Given the description of an element on the screen output the (x, y) to click on. 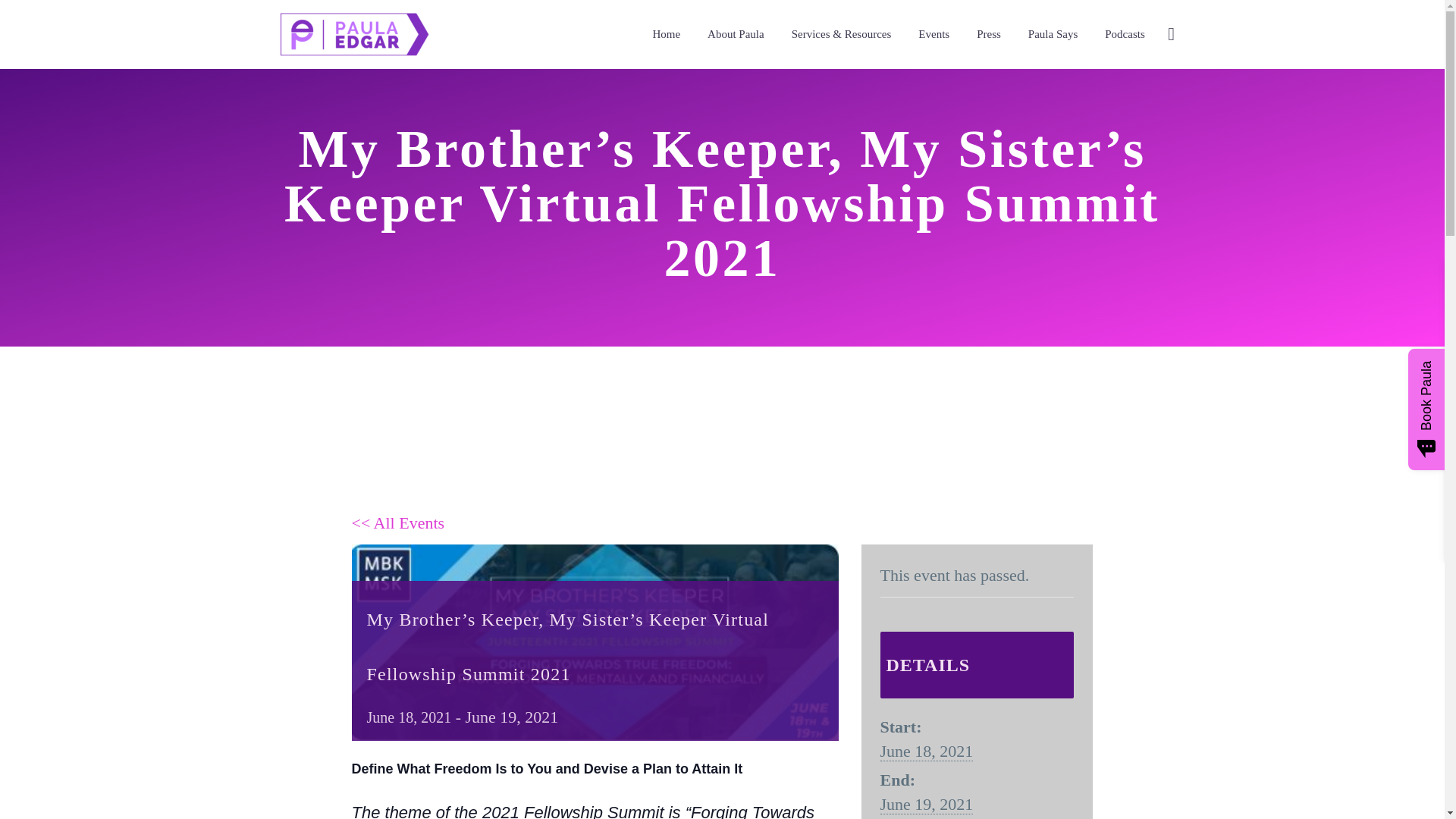
Home (665, 34)
2021-06-19 (925, 804)
Paula Says (1052, 34)
Events (933, 34)
s (1323, 114)
About Paula (735, 34)
Podcasts (1124, 34)
2021-06-18 (925, 751)
Press (988, 34)
